Given the description of an element on the screen output the (x, y) to click on. 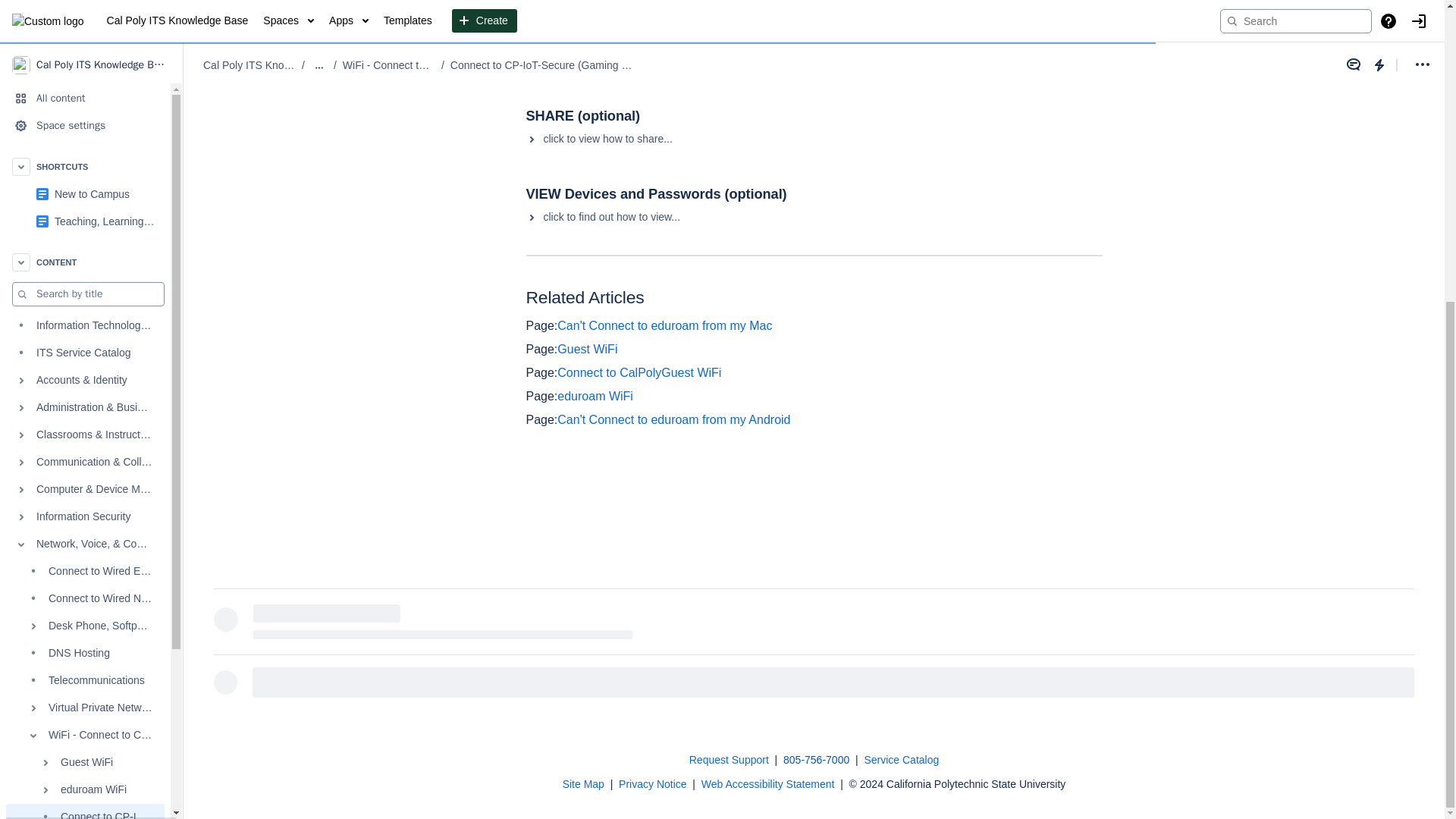
Page (541, 325)
Page (541, 419)
Page (541, 395)
Page (541, 372)
Page (541, 349)
Information Security (84, 47)
